Given the description of an element on the screen output the (x, y) to click on. 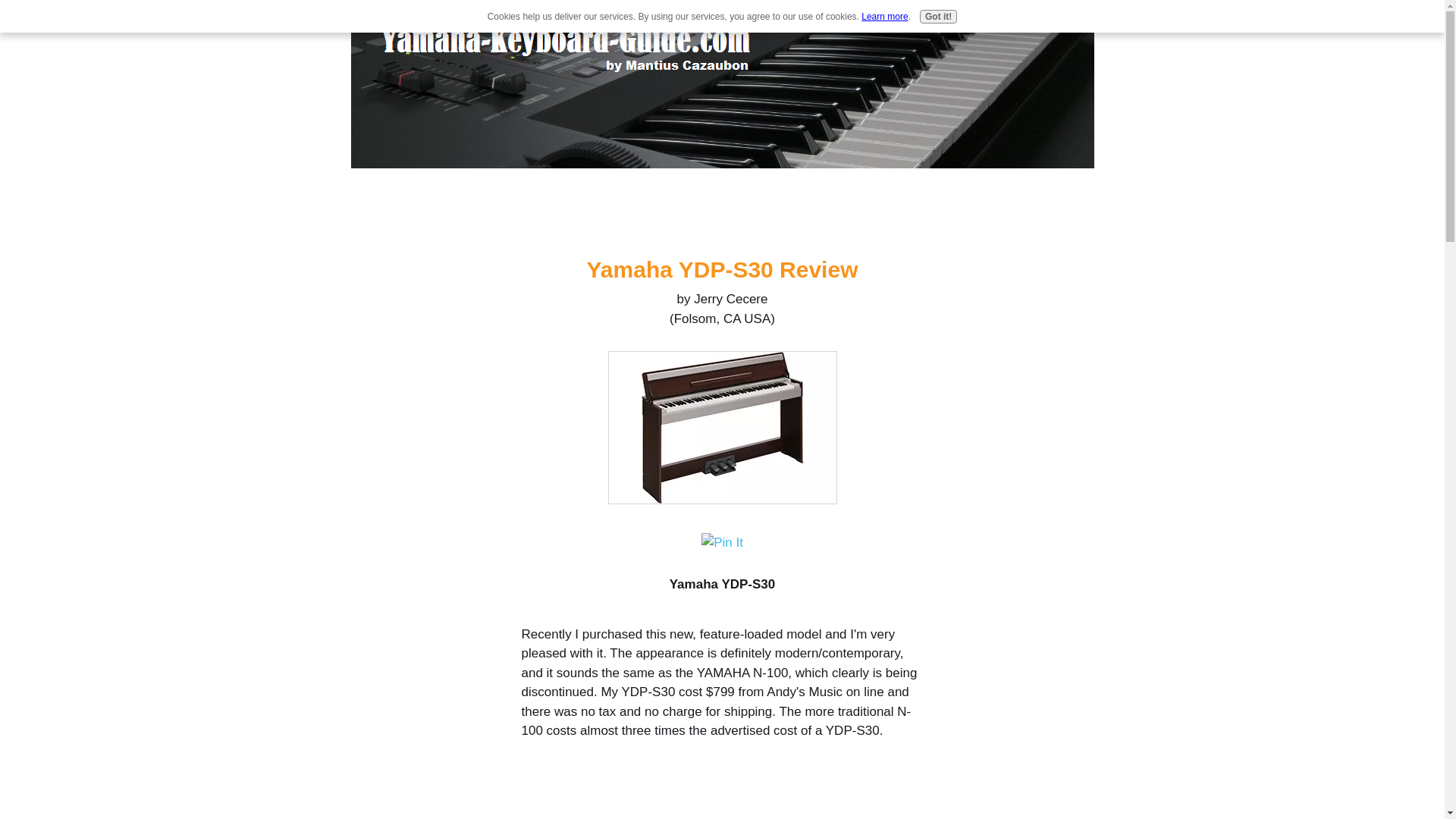
Got it! (938, 16)
Learn more (884, 16)
Advertisement (722, 800)
Yamaha YDP-S30 (722, 427)
Pin It (721, 542)
